Given the description of an element on the screen output the (x, y) to click on. 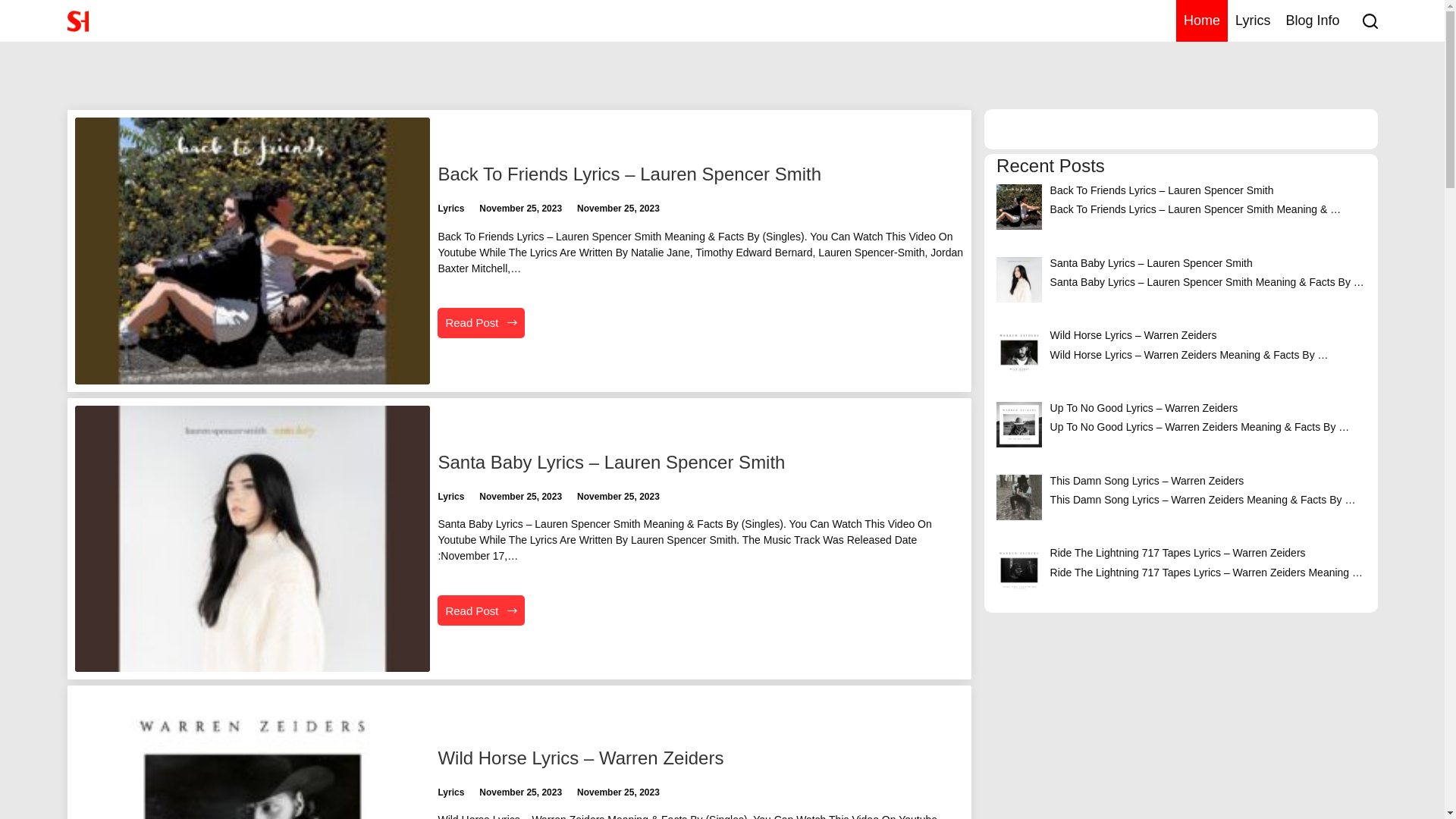
Blog Info Element type: text (1311, 20)
Lyrics Element type: text (450, 496)
Home Element type: text (1201, 20)
Lyrics Element type: text (450, 792)
Lyrics Element type: text (450, 208)
Lyrics Element type: text (1252, 20)
Skip To Content Element type: text (15, 7)
